Given the description of an element on the screen output the (x, y) to click on. 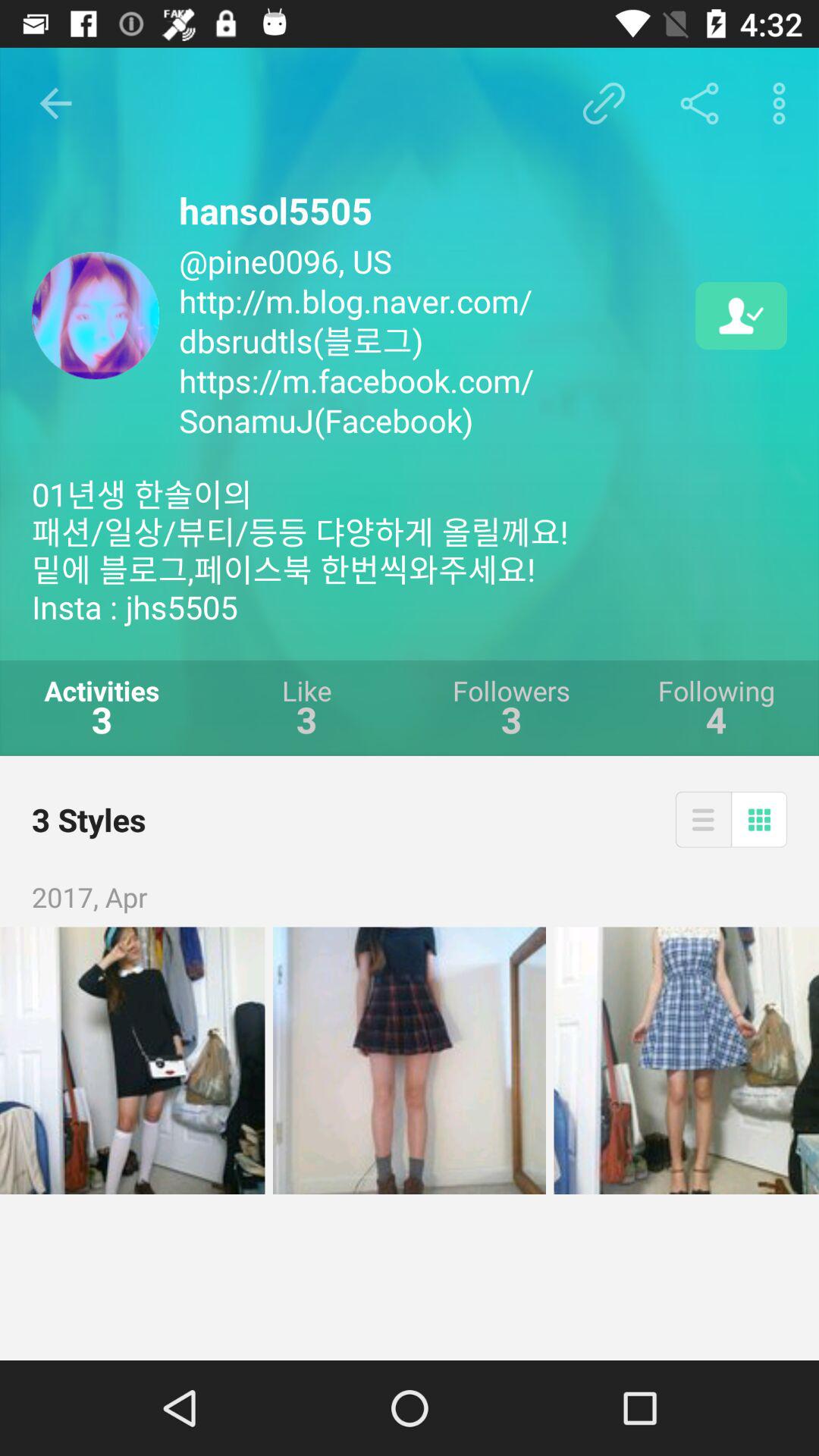
choose style menu (702, 819)
